Given the description of an element on the screen output the (x, y) to click on. 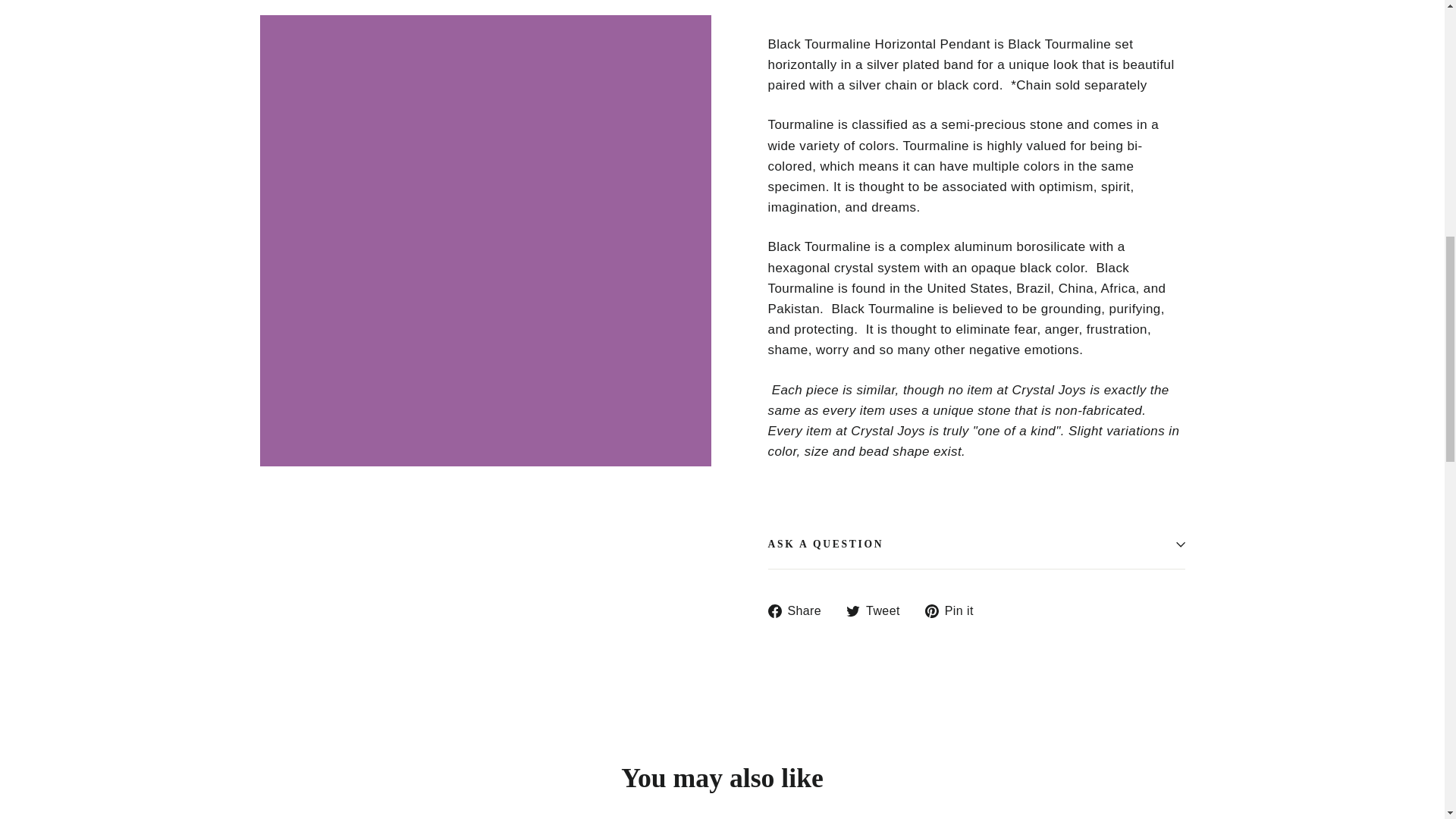
Share on Facebook (799, 610)
Pin on Pinterest (954, 610)
Tweet on Twitter (878, 610)
